Given the description of an element on the screen output the (x, y) to click on. 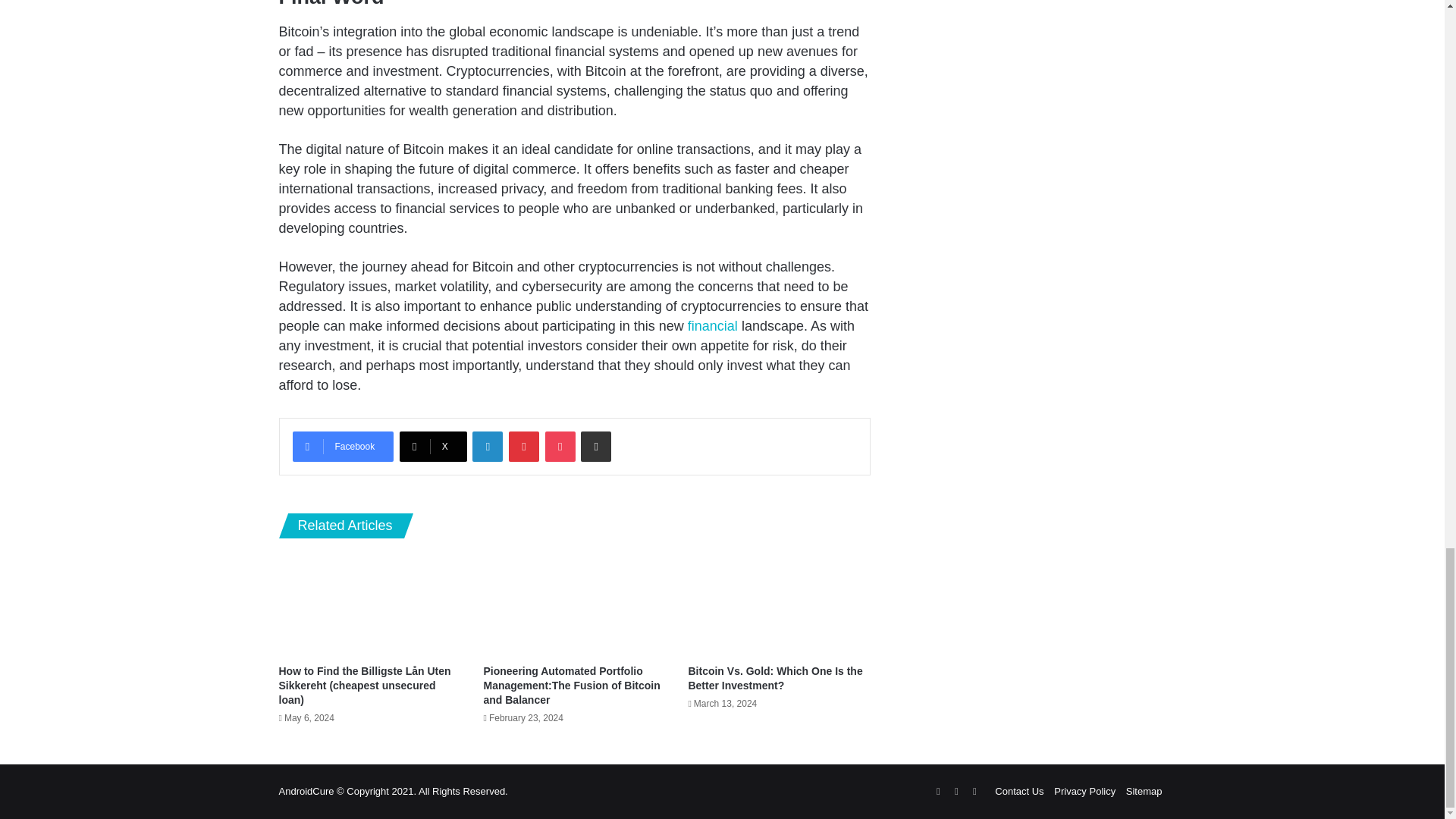
Bitcoin Vs. Gold: Which One Is the Better Investment? (774, 678)
Pocket (559, 446)
Pinterest (523, 446)
Facebook (343, 446)
LinkedIn (486, 446)
X (432, 446)
financial (712, 325)
Share via Email (595, 446)
